Given the description of an element on the screen output the (x, y) to click on. 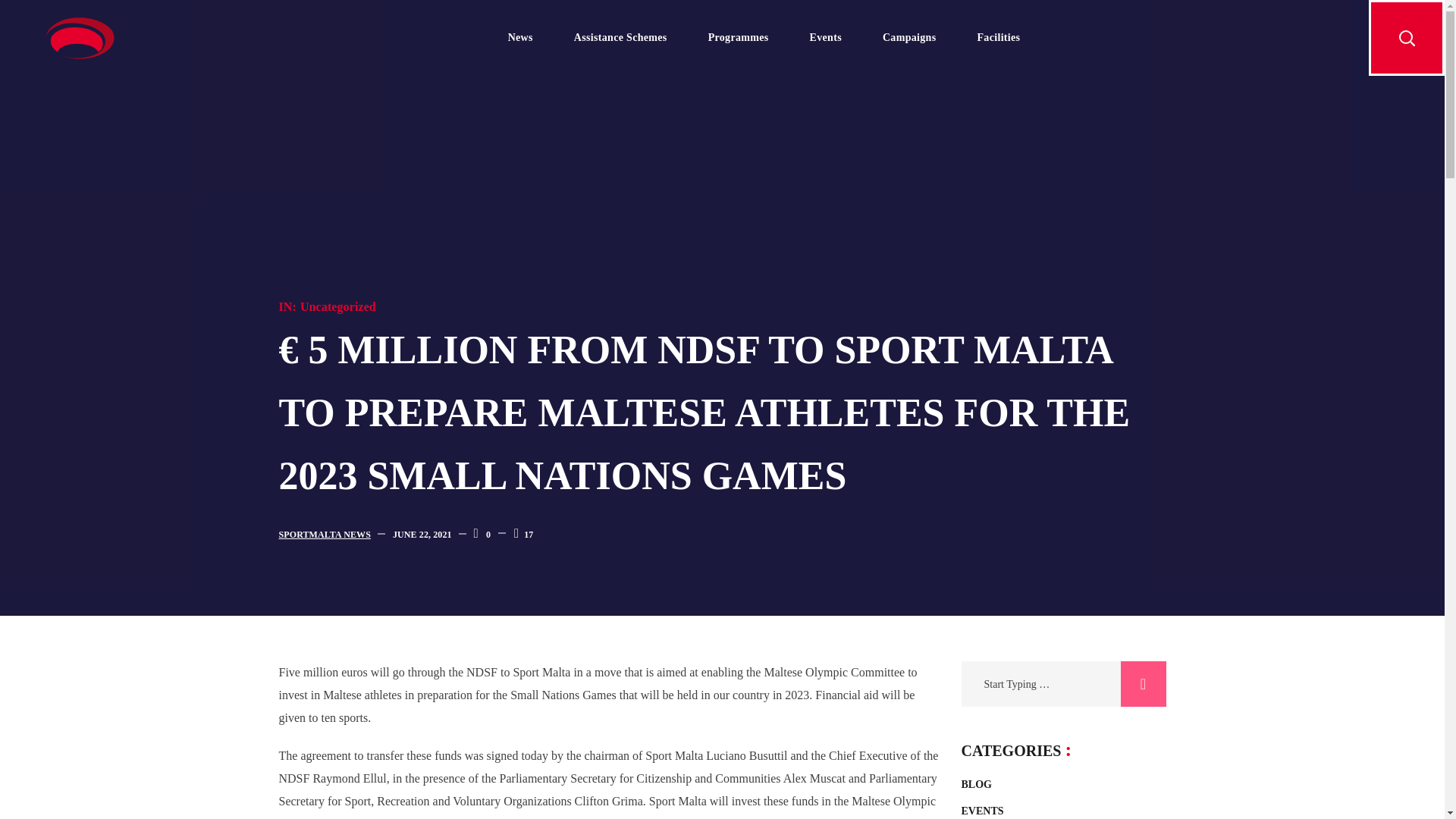
Uncategorized (337, 306)
0 (482, 534)
Search (1143, 683)
Search (1065, 441)
Programmes (738, 38)
Search (1143, 683)
Facilities (998, 38)
Campaigns (908, 38)
Assistance Schemes (620, 38)
Events (825, 38)
